Given the description of an element on the screen output the (x, y) to click on. 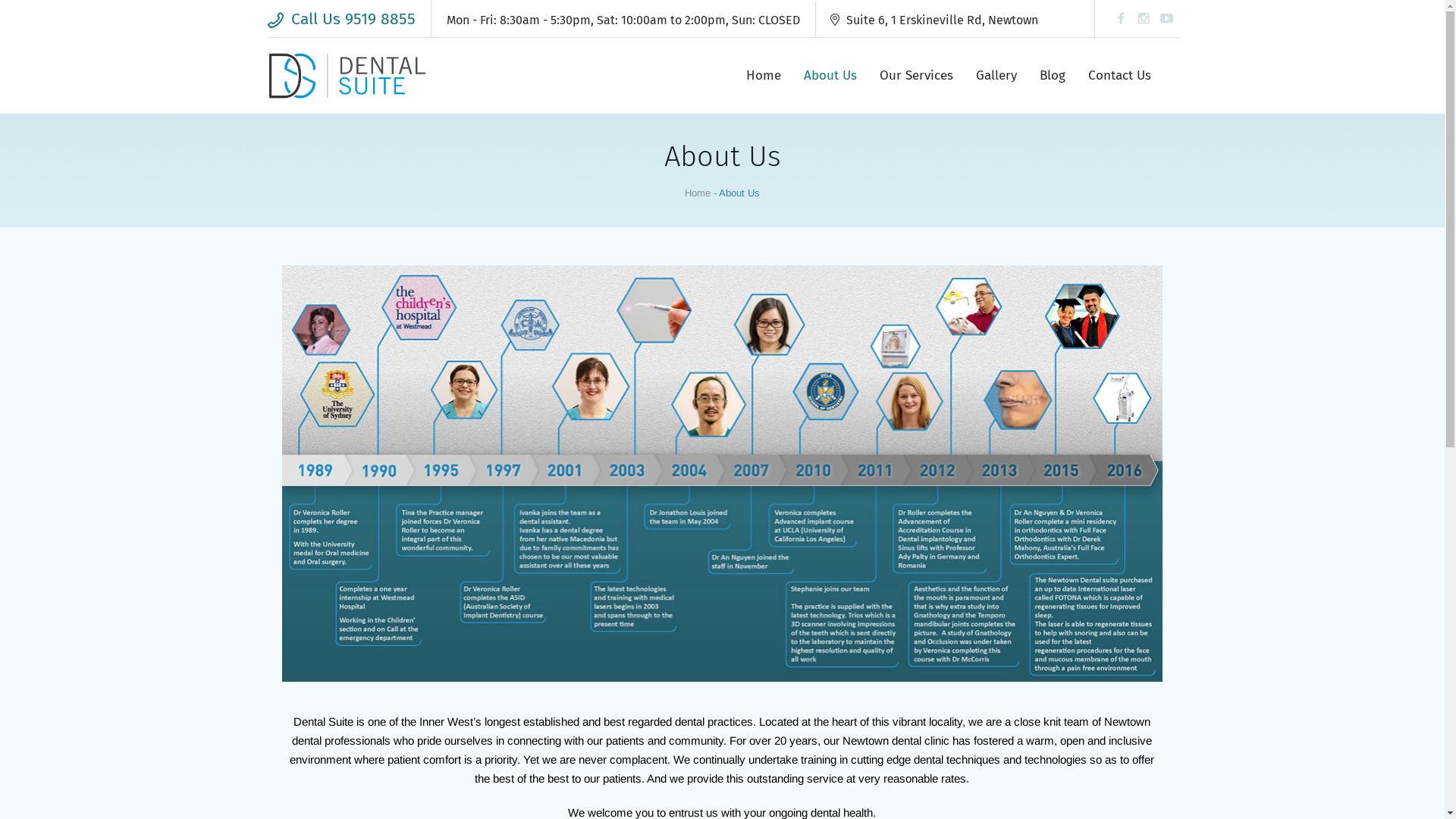
Call Us 9519 8855 Element type: text (341, 18)
Gallery Element type: text (996, 75)
YouTube Element type: hover (1165, 17)
Facebook Element type: hover (1120, 17)
Home Element type: text (762, 75)
Instagram Element type: hover (1143, 17)
About Us Element type: text (829, 75)
Blog Element type: text (1052, 75)
Home Element type: text (697, 192)
Our Services Element type: text (915, 75)
Contact Us Element type: text (1119, 75)
